Given the description of an element on the screen output the (x, y) to click on. 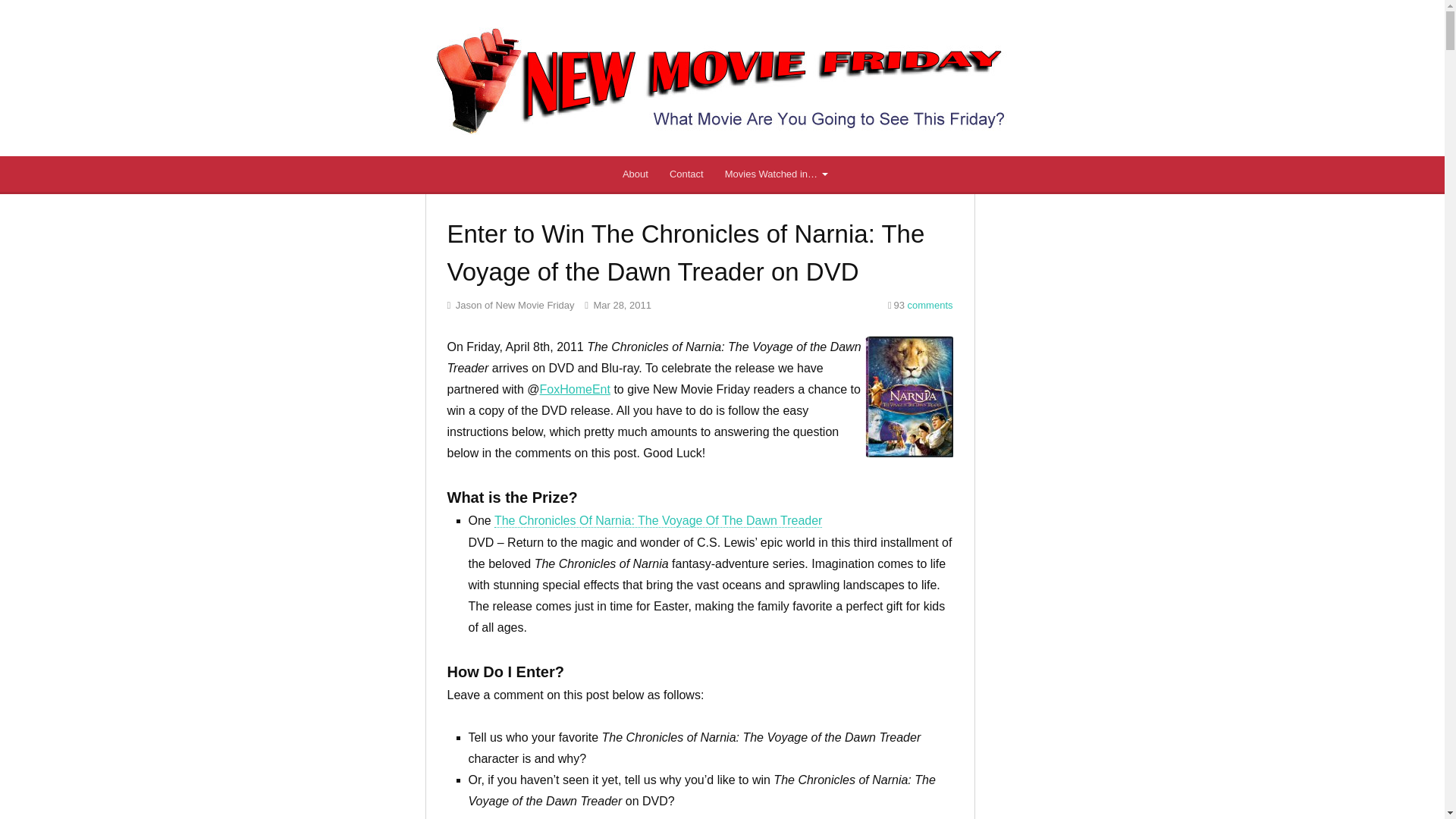
View FoxHomeEnt's Twitter Profile (575, 389)
About (635, 173)
93 comments (920, 305)
2011-03-28 (617, 305)
The Chronicles Of Narnia: The Voyage Of The Dawn Treader (658, 520)
Contact (686, 173)
FoxHomeEnt (575, 389)
